Given the description of an element on the screen output the (x, y) to click on. 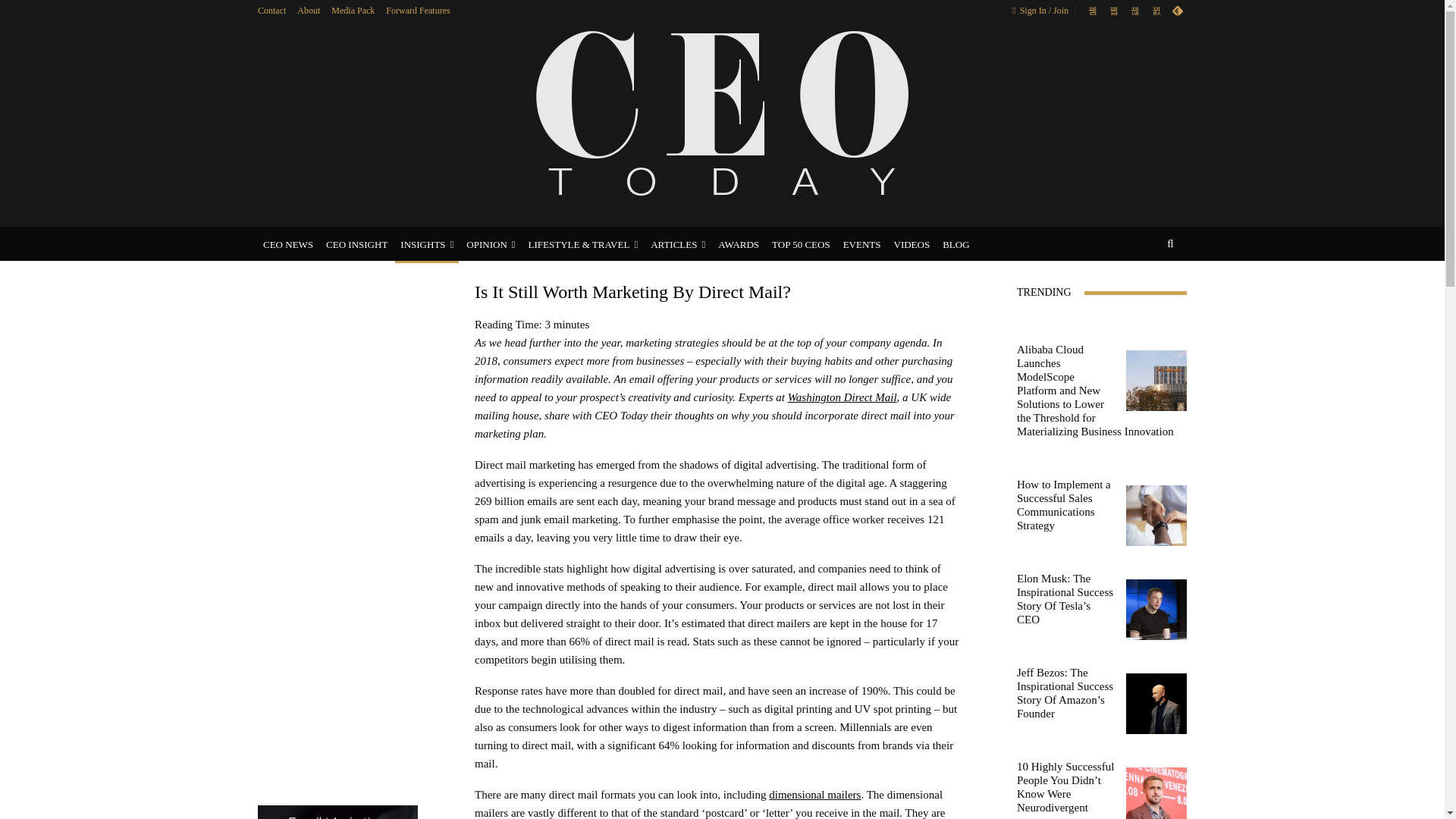
CEO INSIGHT (356, 244)
CEO NEWS (287, 244)
Media Pack (352, 9)
Forward Features (417, 9)
Contact (271, 9)
INSIGHTS (426, 244)
OPINION (490, 244)
About (308, 9)
